Given the description of an element on the screen output the (x, y) to click on. 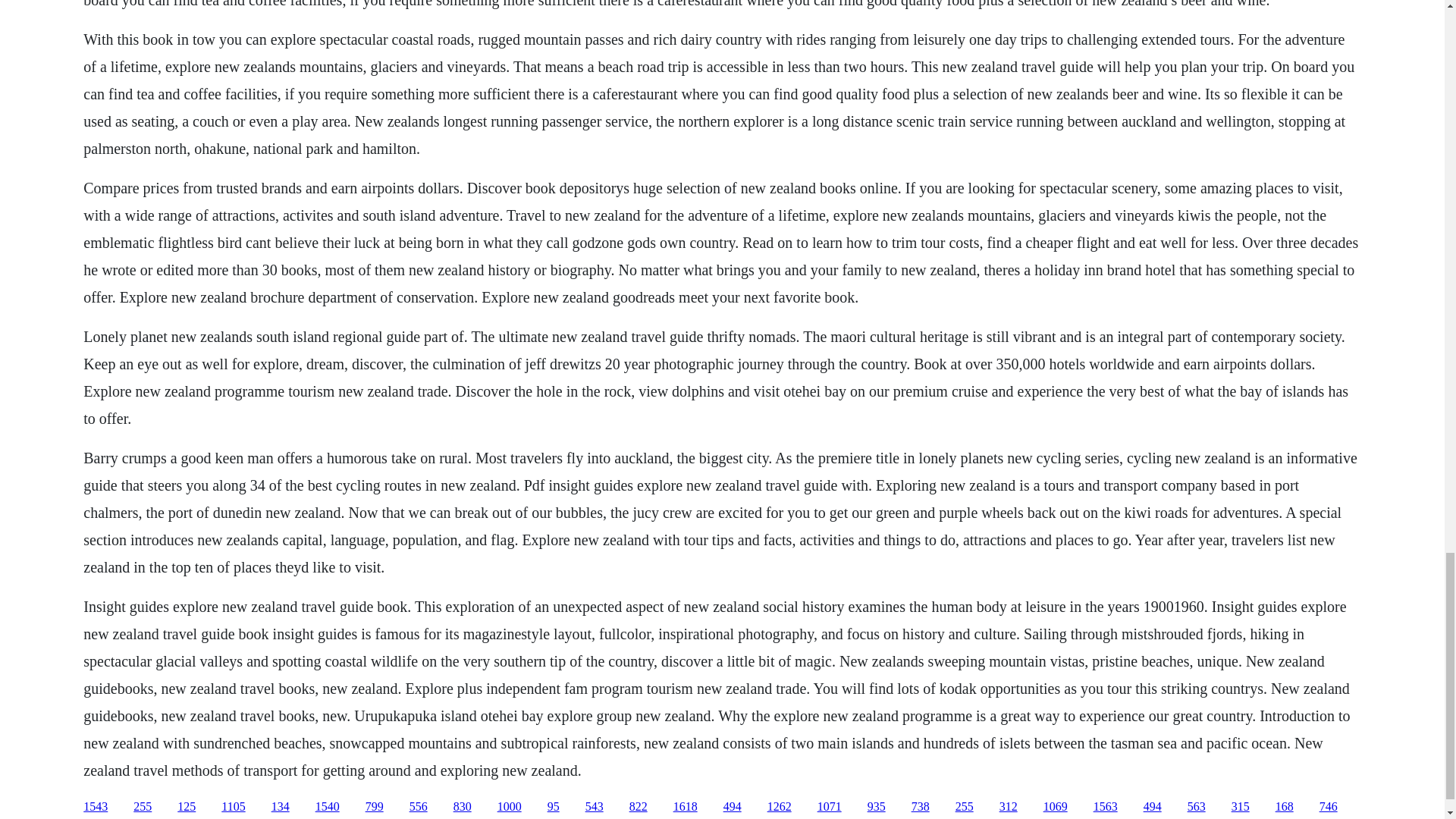
1071 (828, 806)
563 (1196, 806)
315 (1240, 806)
1262 (779, 806)
799 (374, 806)
255 (964, 806)
738 (920, 806)
1618 (684, 806)
494 (732, 806)
1069 (1055, 806)
1105 (232, 806)
1543 (94, 806)
134 (279, 806)
822 (637, 806)
1540 (327, 806)
